Given the description of an element on the screen output the (x, y) to click on. 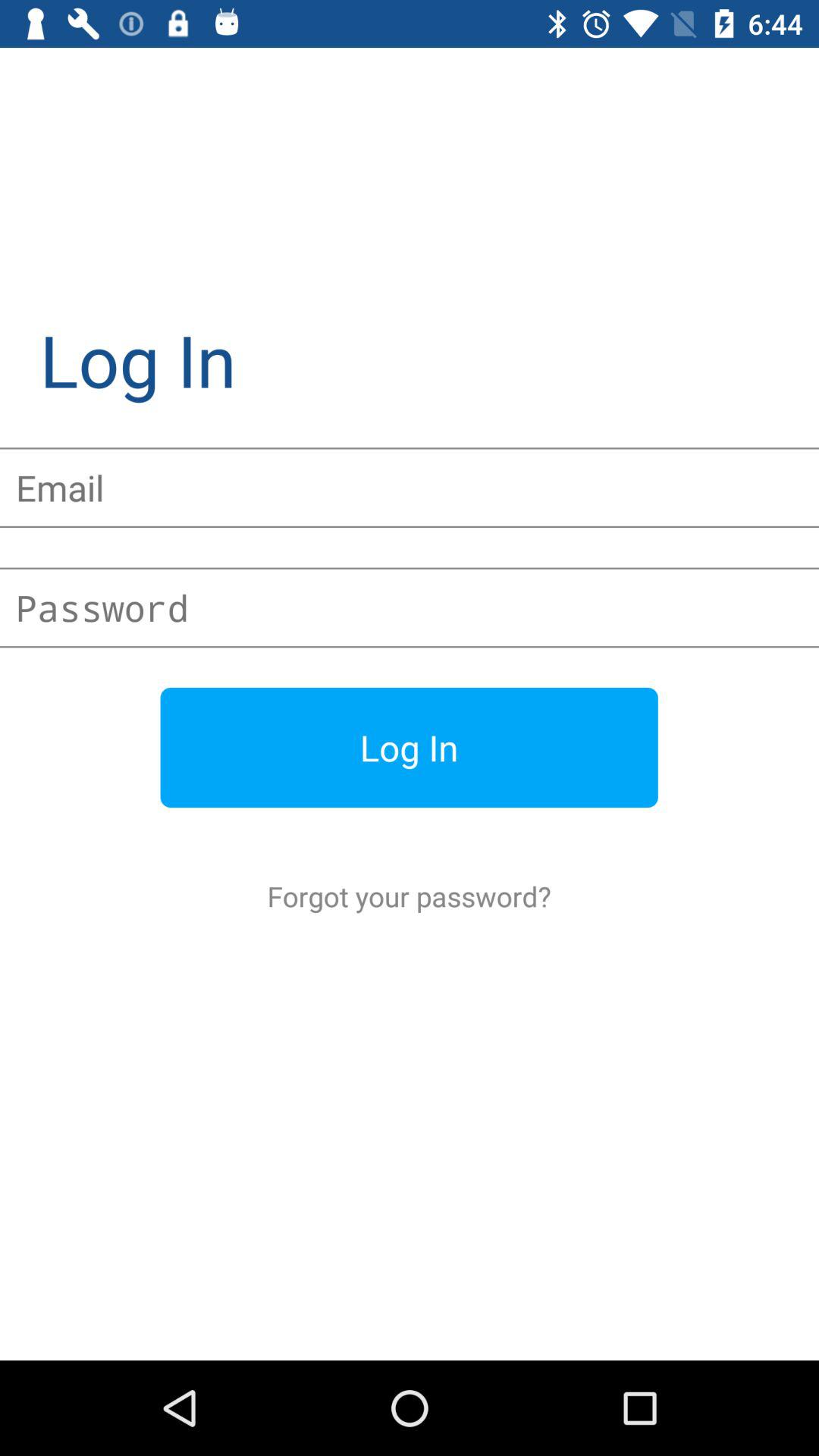
tap item below the log in item (409, 896)
